Given the description of an element on the screen output the (x, y) to click on. 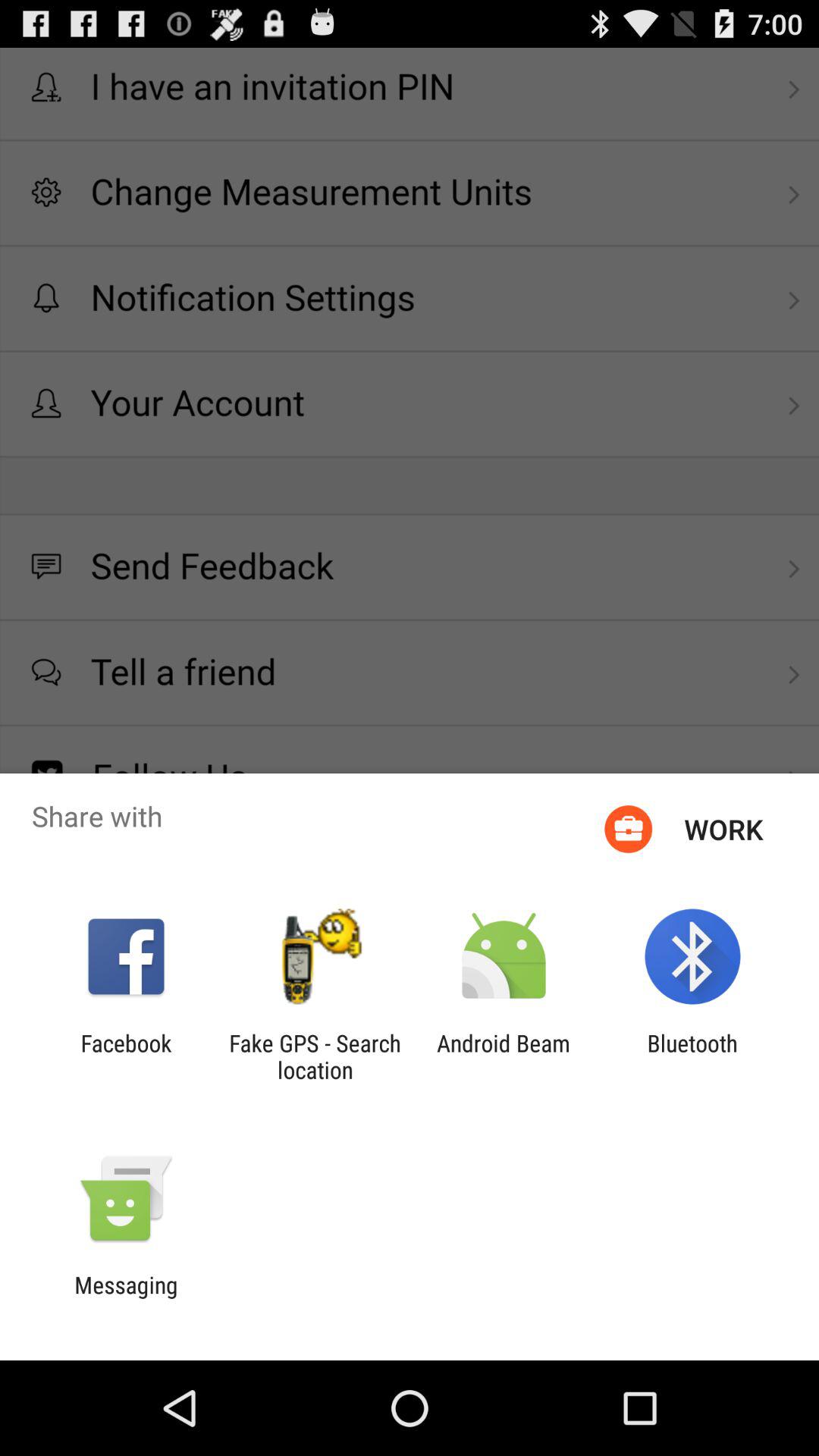
tap the android beam item (503, 1056)
